Given the description of an element on the screen output the (x, y) to click on. 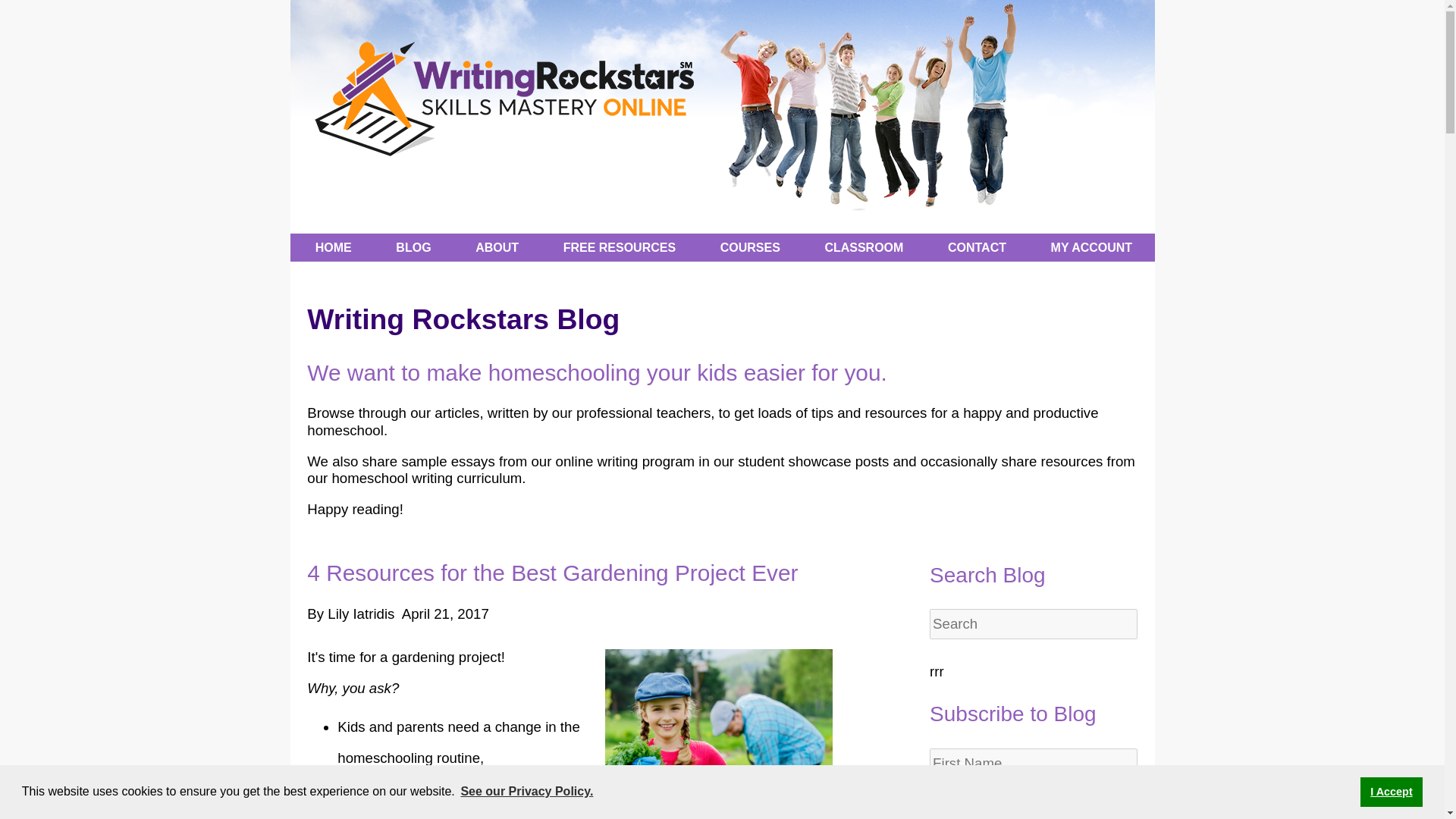
girl gardening (718, 734)
See our Privacy Policy. (526, 791)
I Accept (1390, 791)
